Given the description of an element on the screen output the (x, y) to click on. 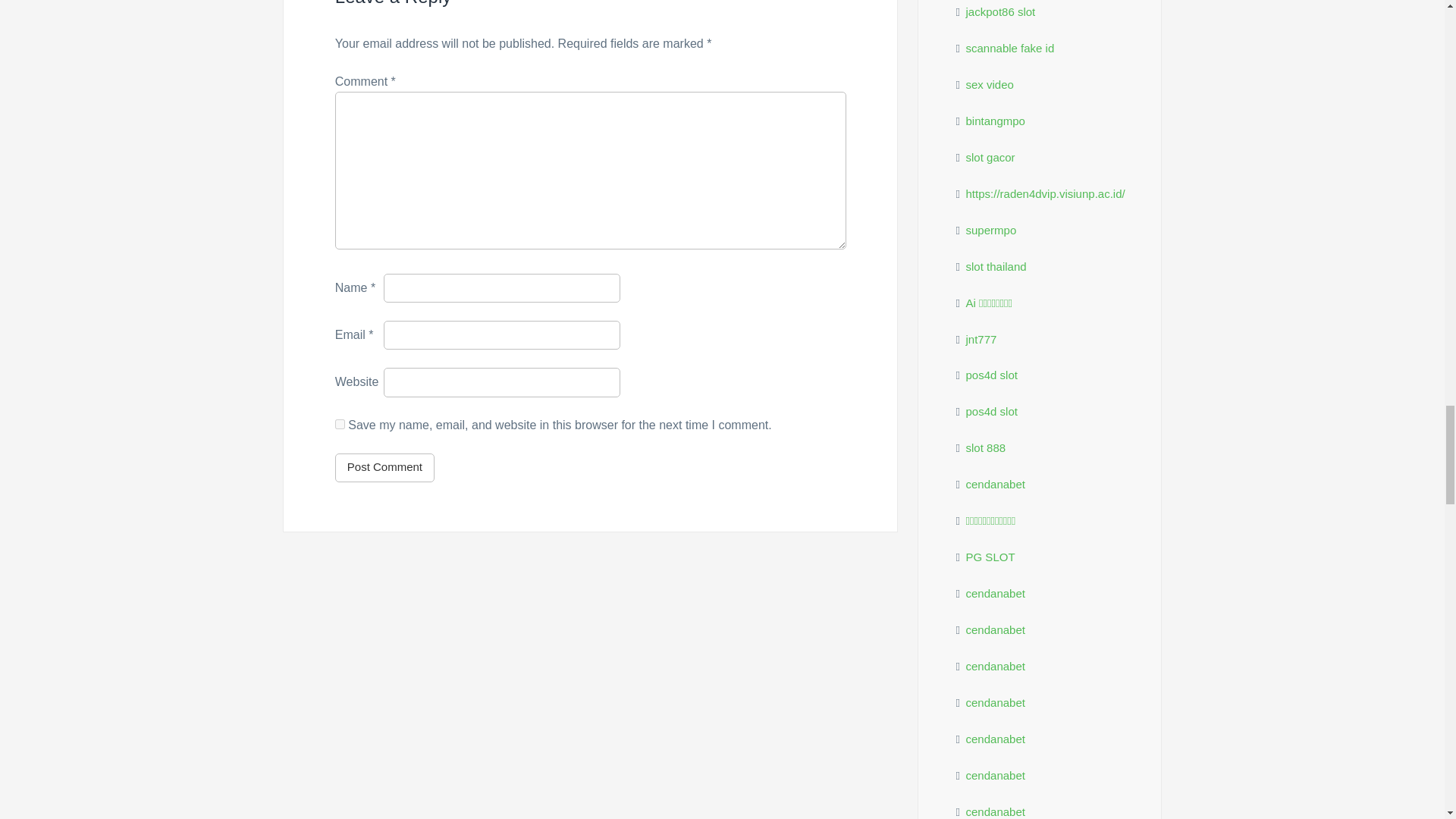
Post Comment (383, 467)
yes (339, 424)
Post Comment (383, 467)
